Given the description of an element on the screen output the (x, y) to click on. 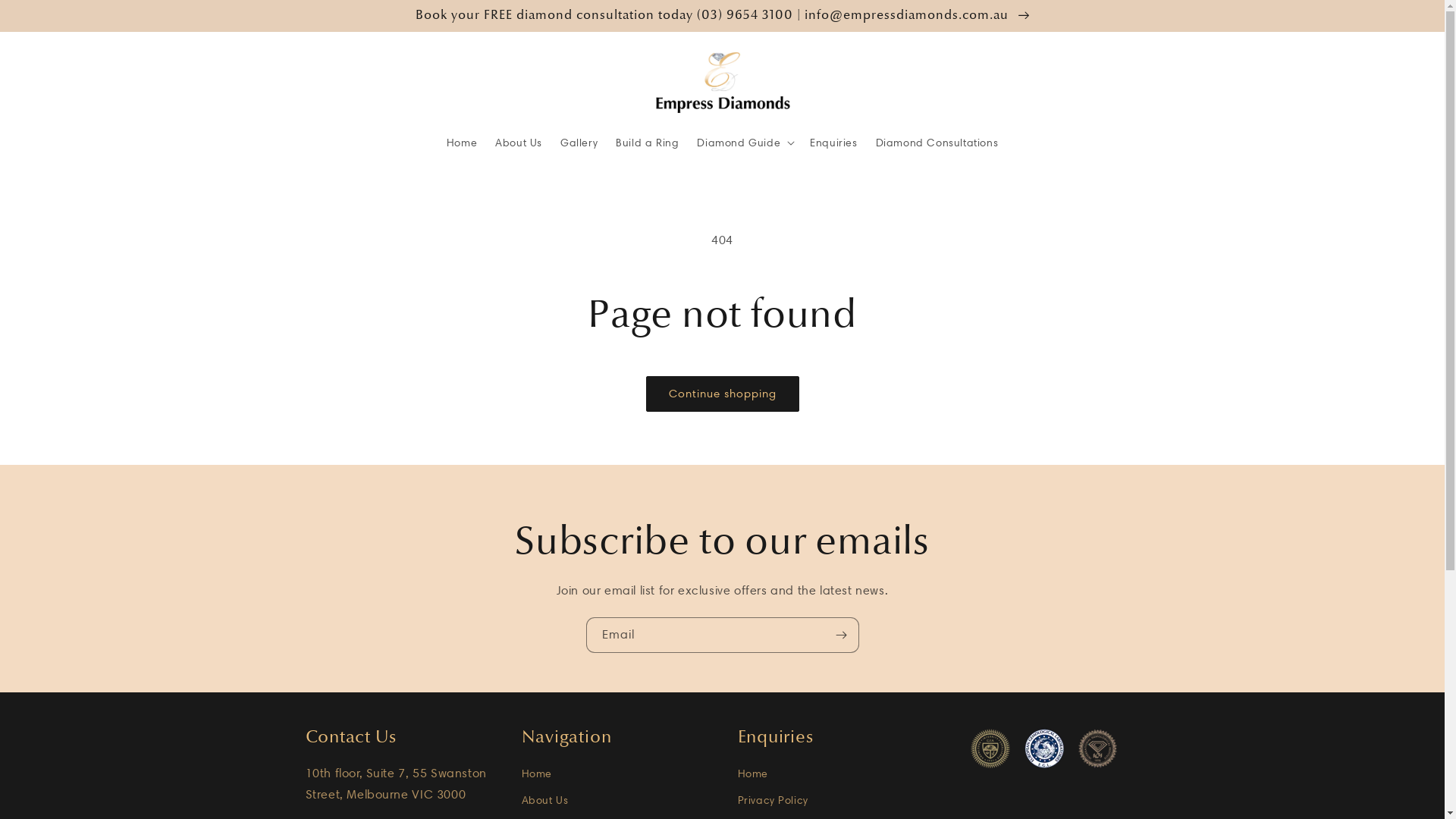
Home Element type: text (752, 775)
About Us Element type: text (544, 800)
Gallery Element type: text (578, 142)
Build a Ring Element type: text (646, 142)
Diamond Consultations Element type: text (936, 142)
Home Element type: text (461, 142)
Privacy Policy Element type: text (772, 800)
Enquiries Element type: text (833, 142)
Continue shopping Element type: text (722, 393)
Home Element type: text (536, 775)
About Us Element type: text (518, 142)
